Given the description of an element on the screen output the (x, y) to click on. 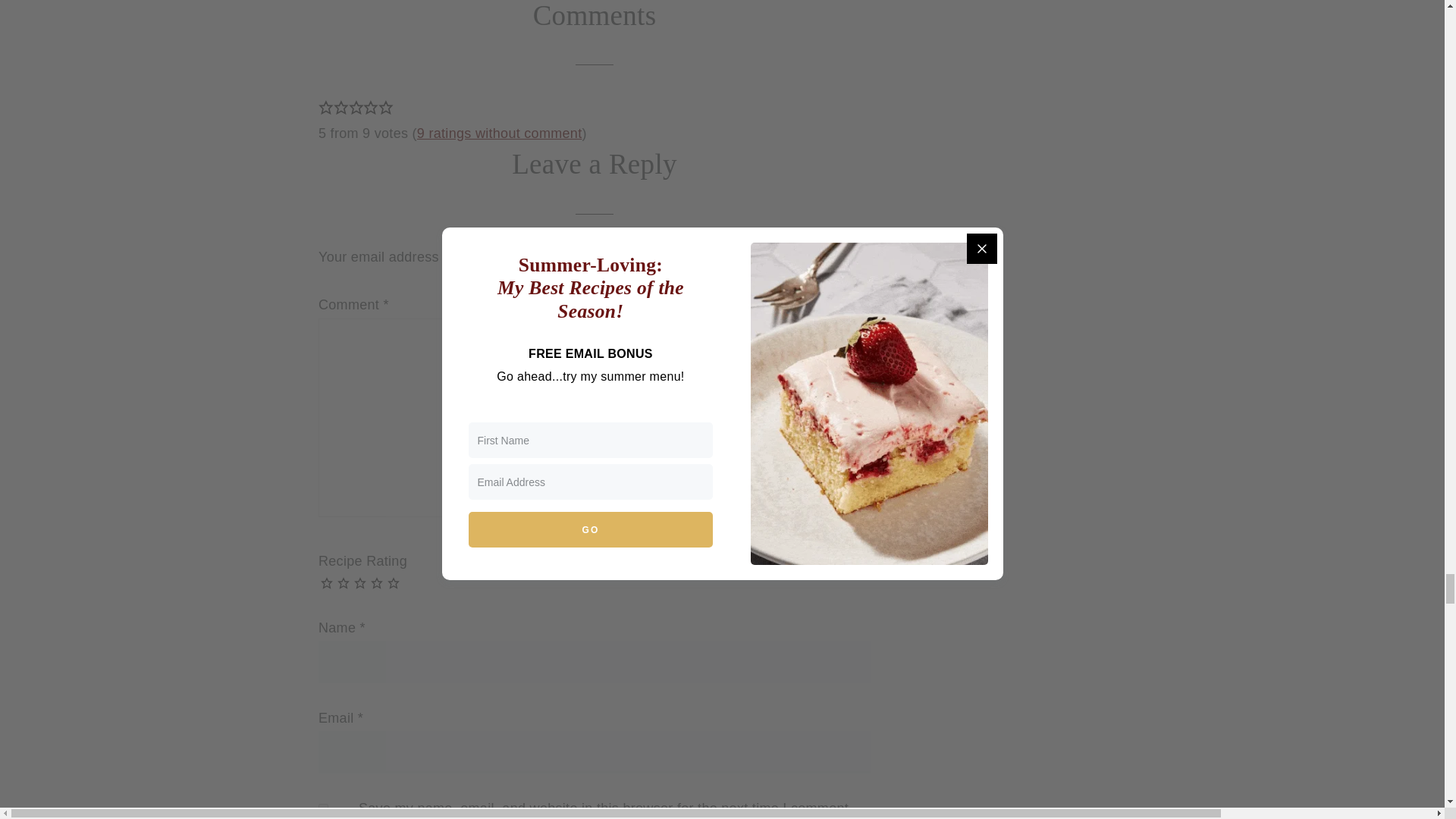
yes (323, 808)
